Given the description of an element on the screen output the (x, y) to click on. 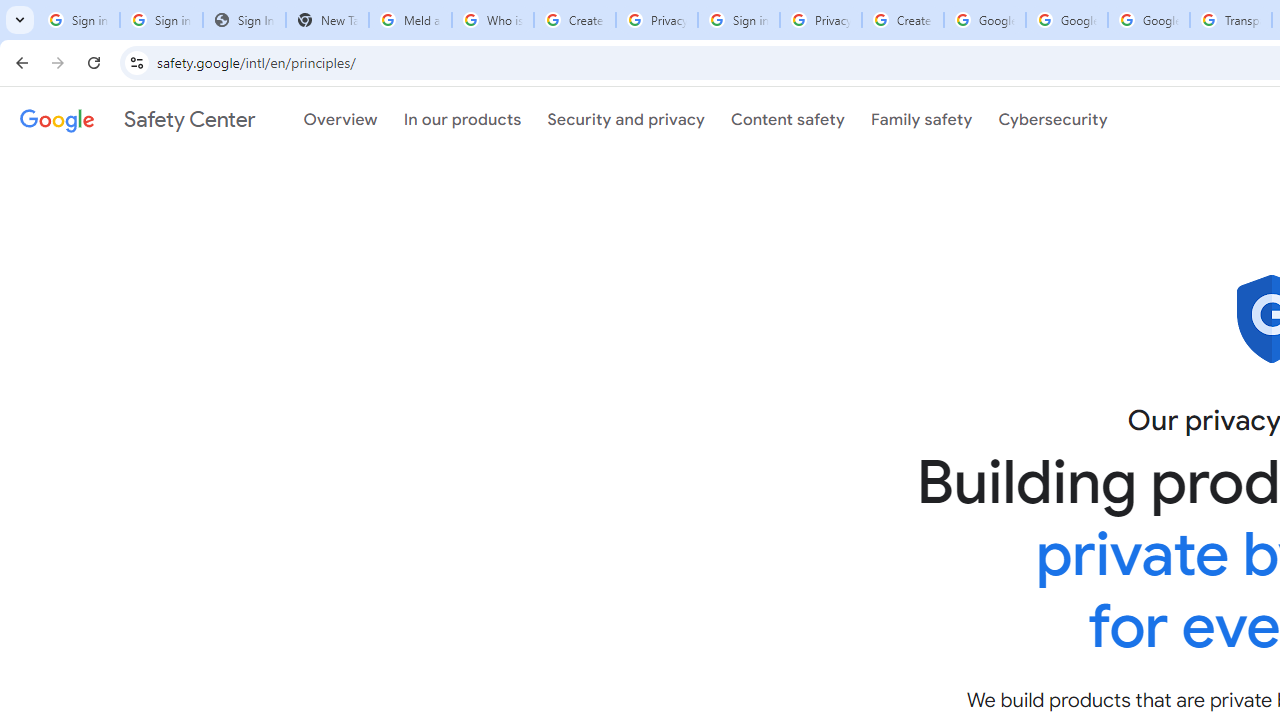
Create your Google Account (574, 20)
New Tab (326, 20)
Sign in - Google Accounts (161, 20)
Create your Google Account (902, 20)
Family safety (921, 119)
Cybersecurity (1053, 119)
Sign in - Google Accounts (78, 20)
Content safety (787, 119)
